Given the description of an element on the screen output the (x, y) to click on. 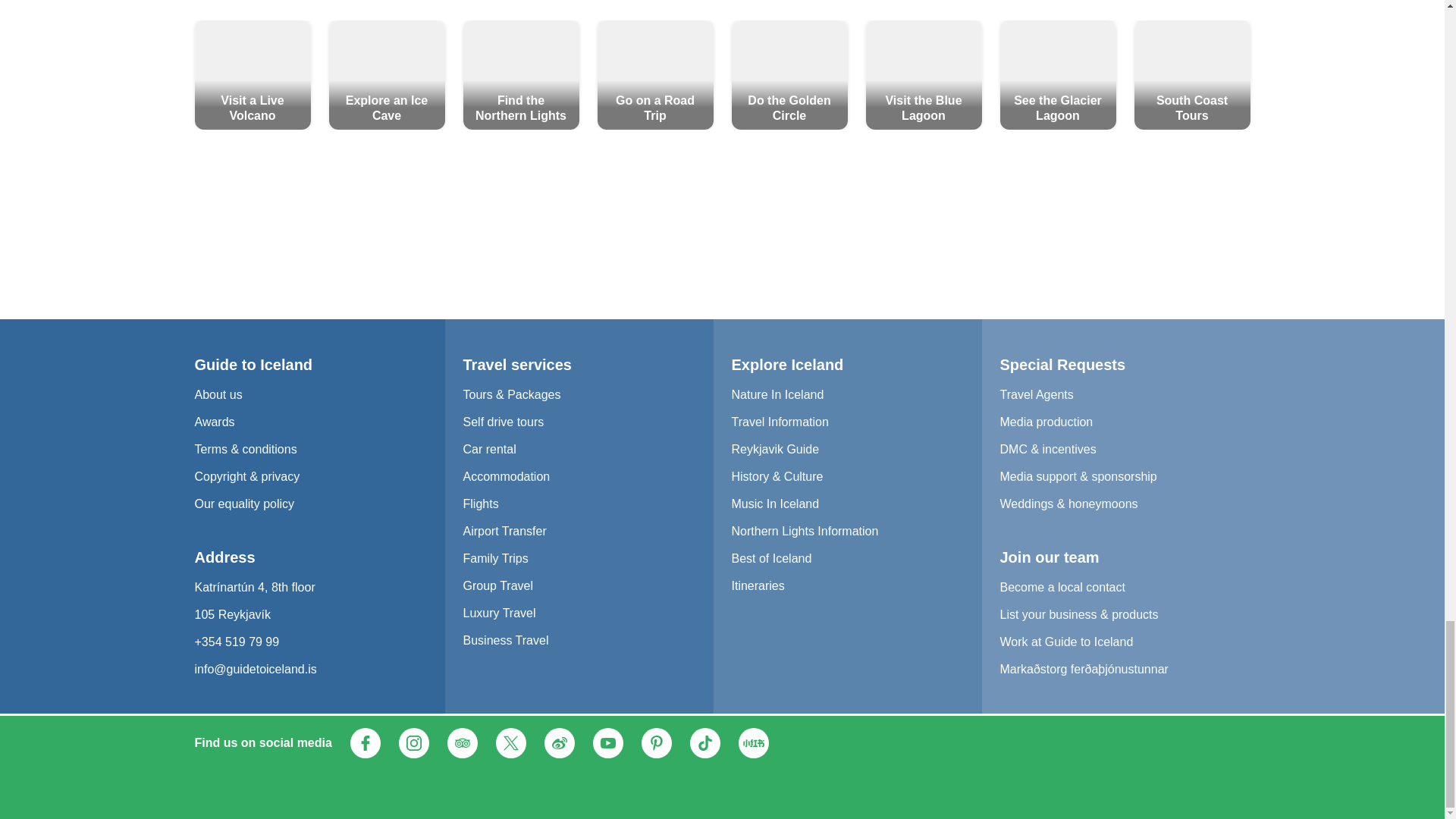
Go on a Road Trip (655, 74)
See the Glacier Lagoon (1057, 74)
South Coast Tours (1192, 74)
Visit a Live Volcano (251, 74)
Visit a Live Volcano (251, 74)
Explore an Ice Cave (387, 74)
Explore an Ice Cave (387, 74)
Find the Northern Lights (520, 74)
Find the Northern Lights (520, 74)
Visit the Blue Lagoon (924, 74)
